Given the description of an element on the screen output the (x, y) to click on. 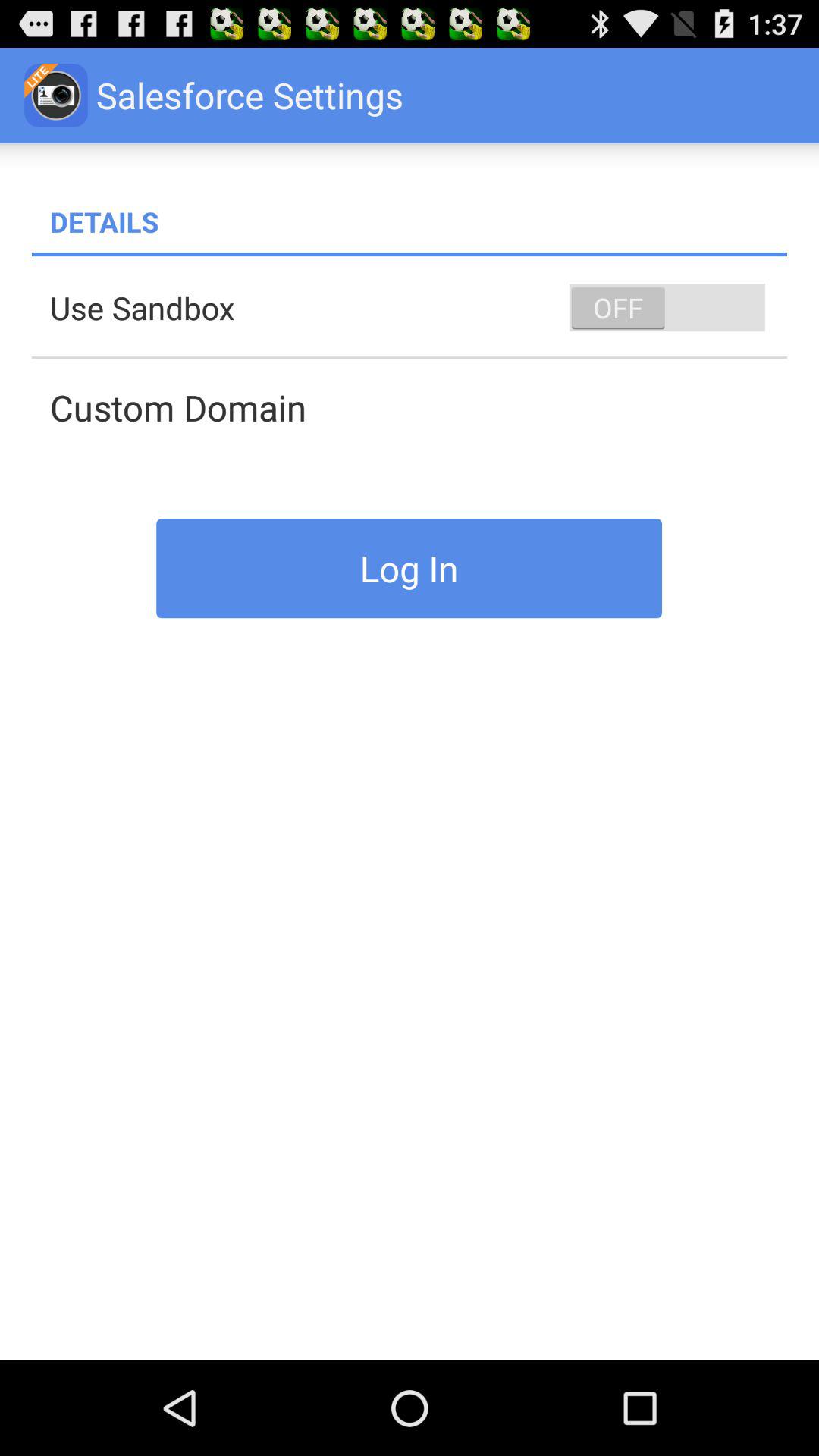
launch item below the custom domain (409, 568)
